Given the description of an element on the screen output the (x, y) to click on. 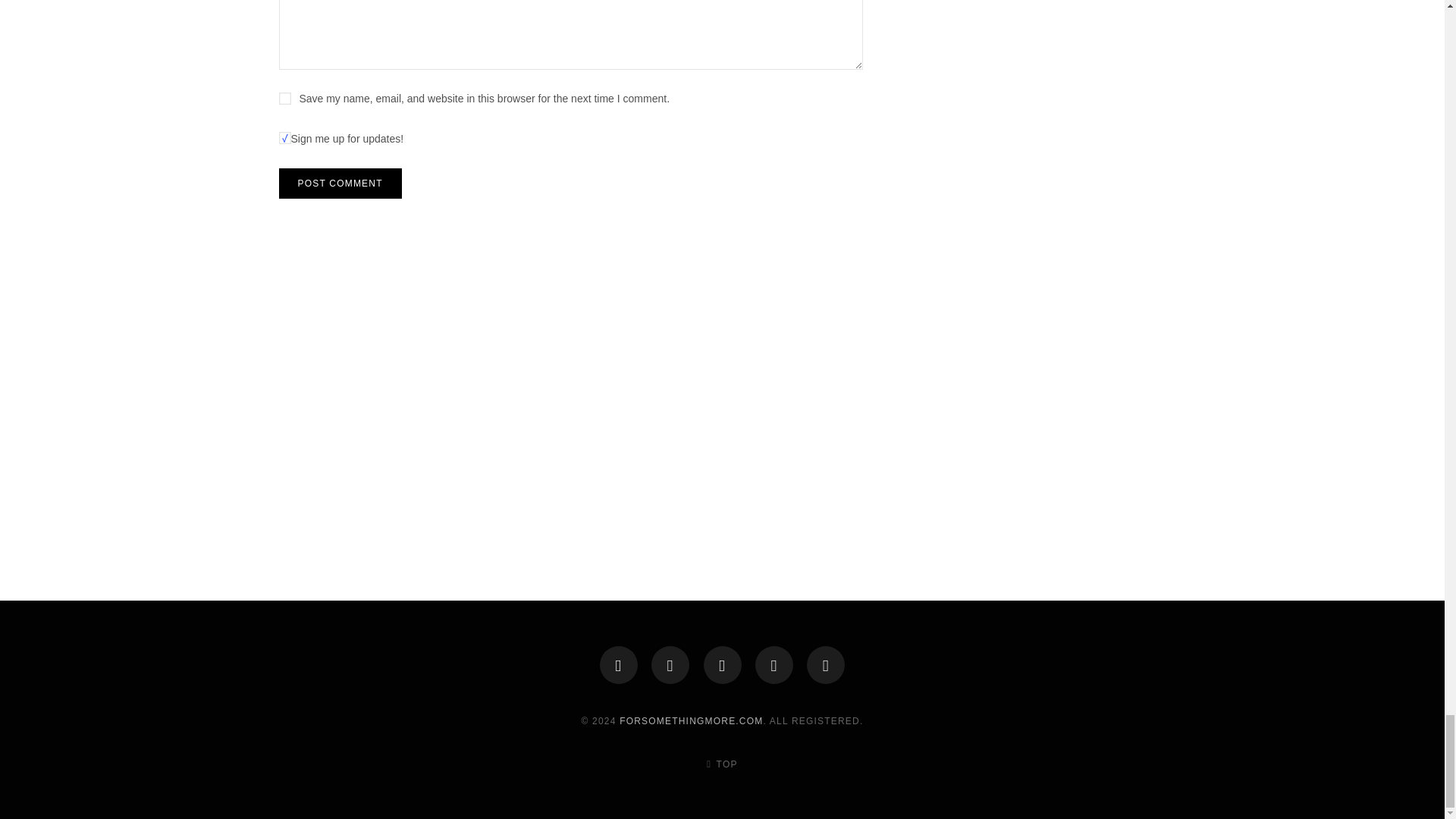
Post Comment (340, 183)
yes (285, 98)
1 (285, 137)
